Given the description of an element on the screen output the (x, y) to click on. 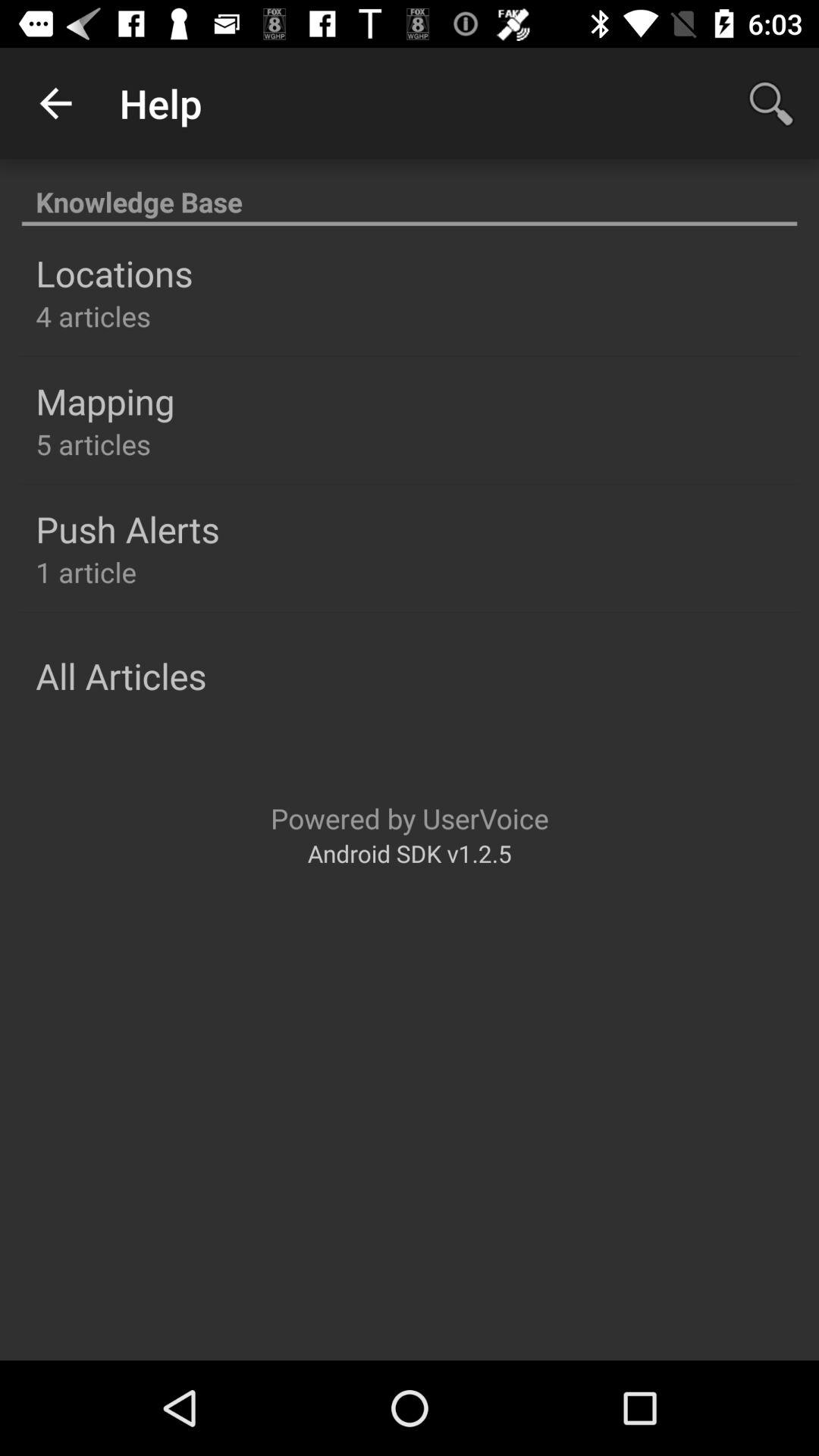
tap the icon above knowledge base item (55, 103)
